Given the description of an element on the screen output the (x, y) to click on. 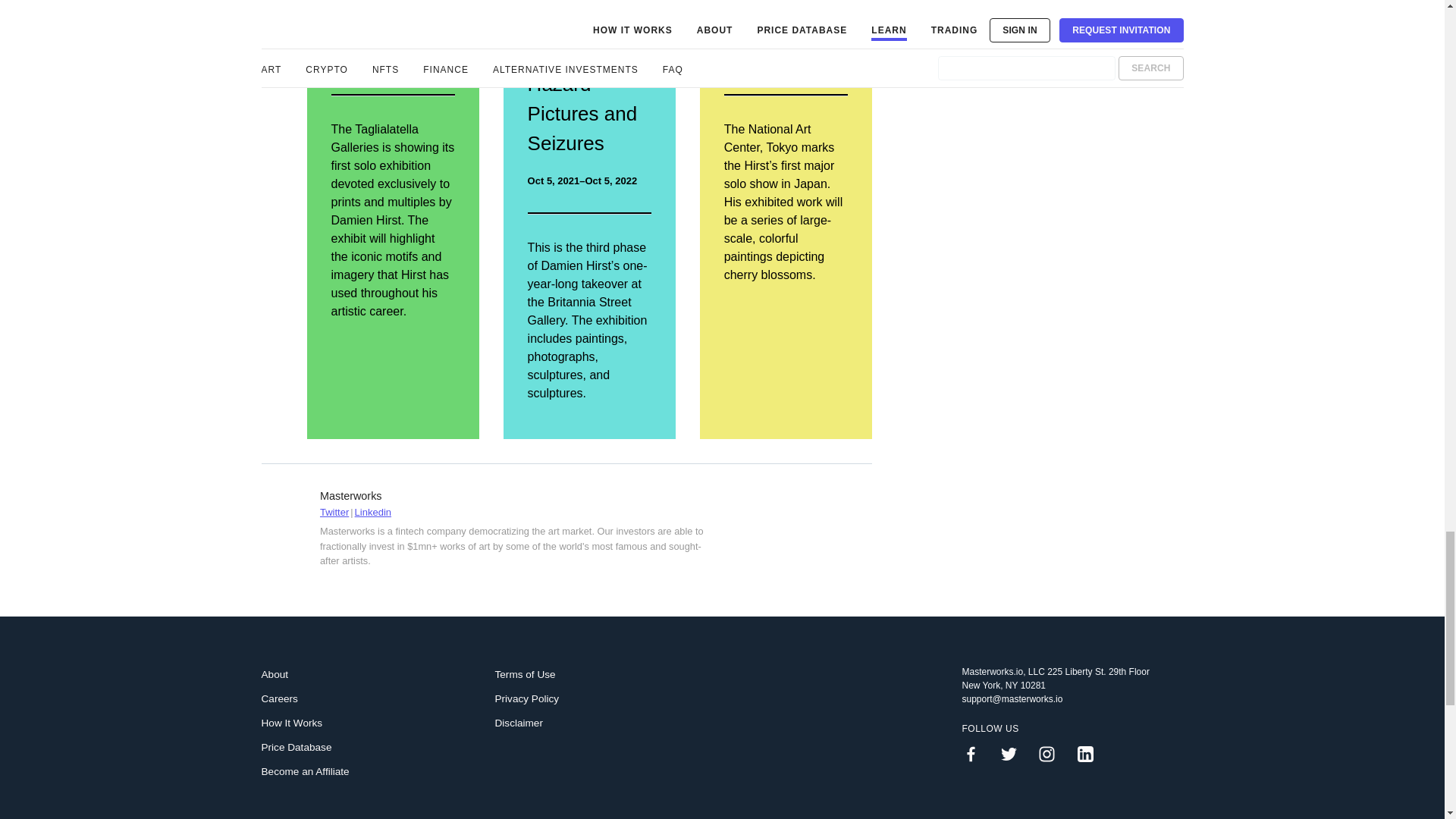
Find us in Twitter (1014, 753)
Find us in Facebook (976, 753)
Find us in Instagram (1052, 753)
Find us in LinkedIn (1091, 753)
